Given the description of an element on the screen output the (x, y) to click on. 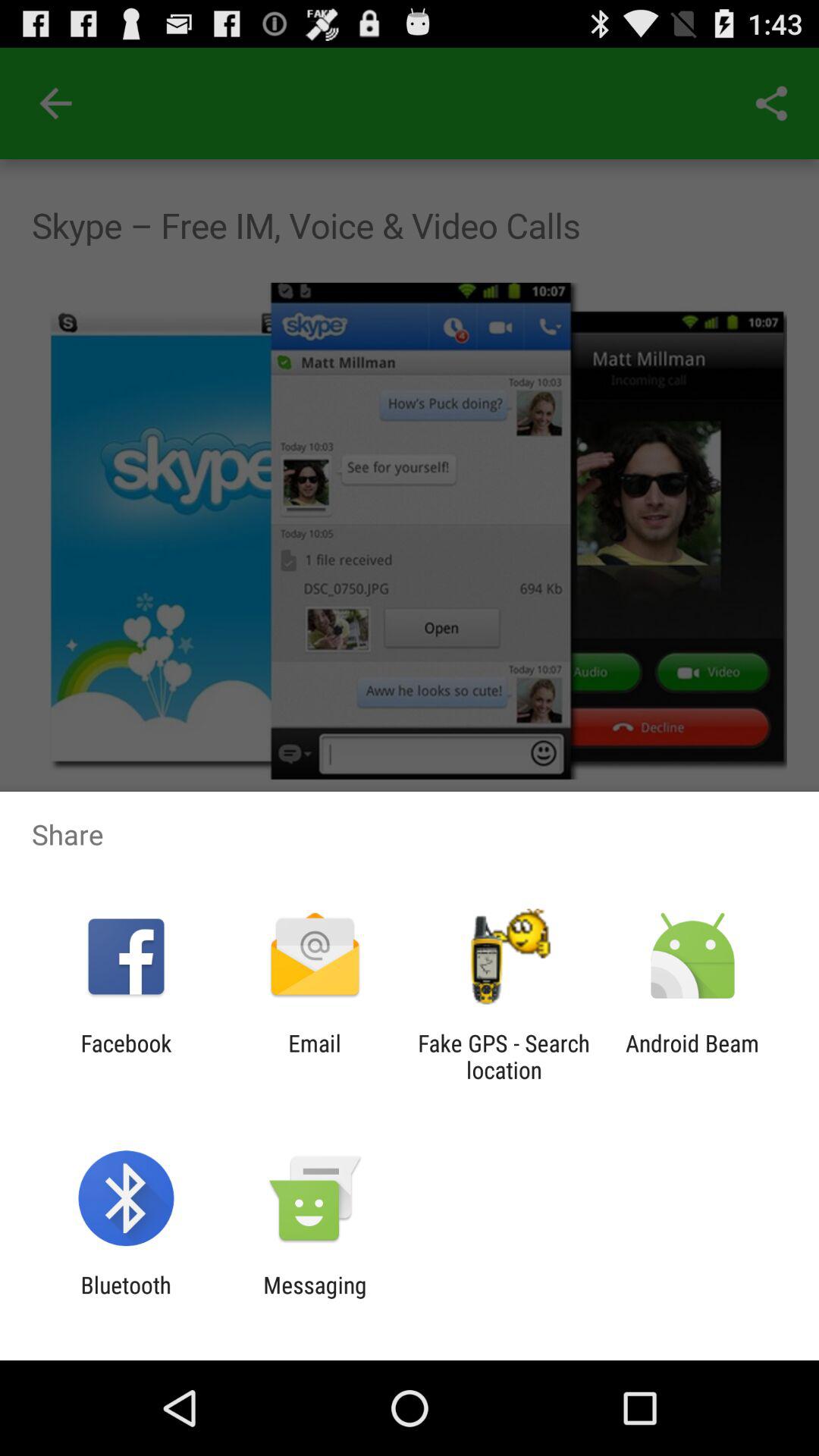
choose facebook (125, 1056)
